Given the description of an element on the screen output the (x, y) to click on. 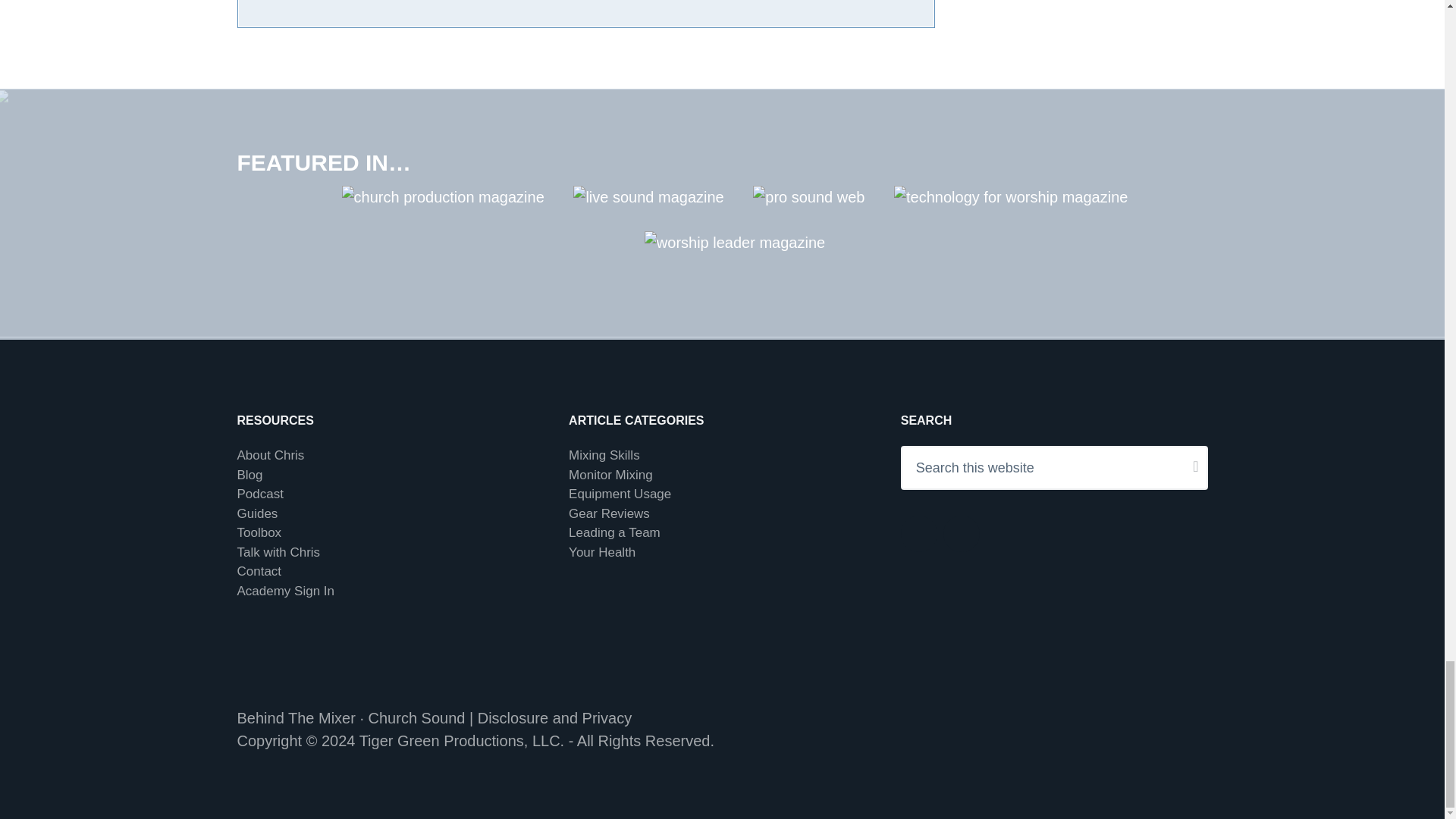
Blog (248, 474)
About Chris (269, 454)
Podcast (258, 493)
